Given the description of an element on the screen output the (x, y) to click on. 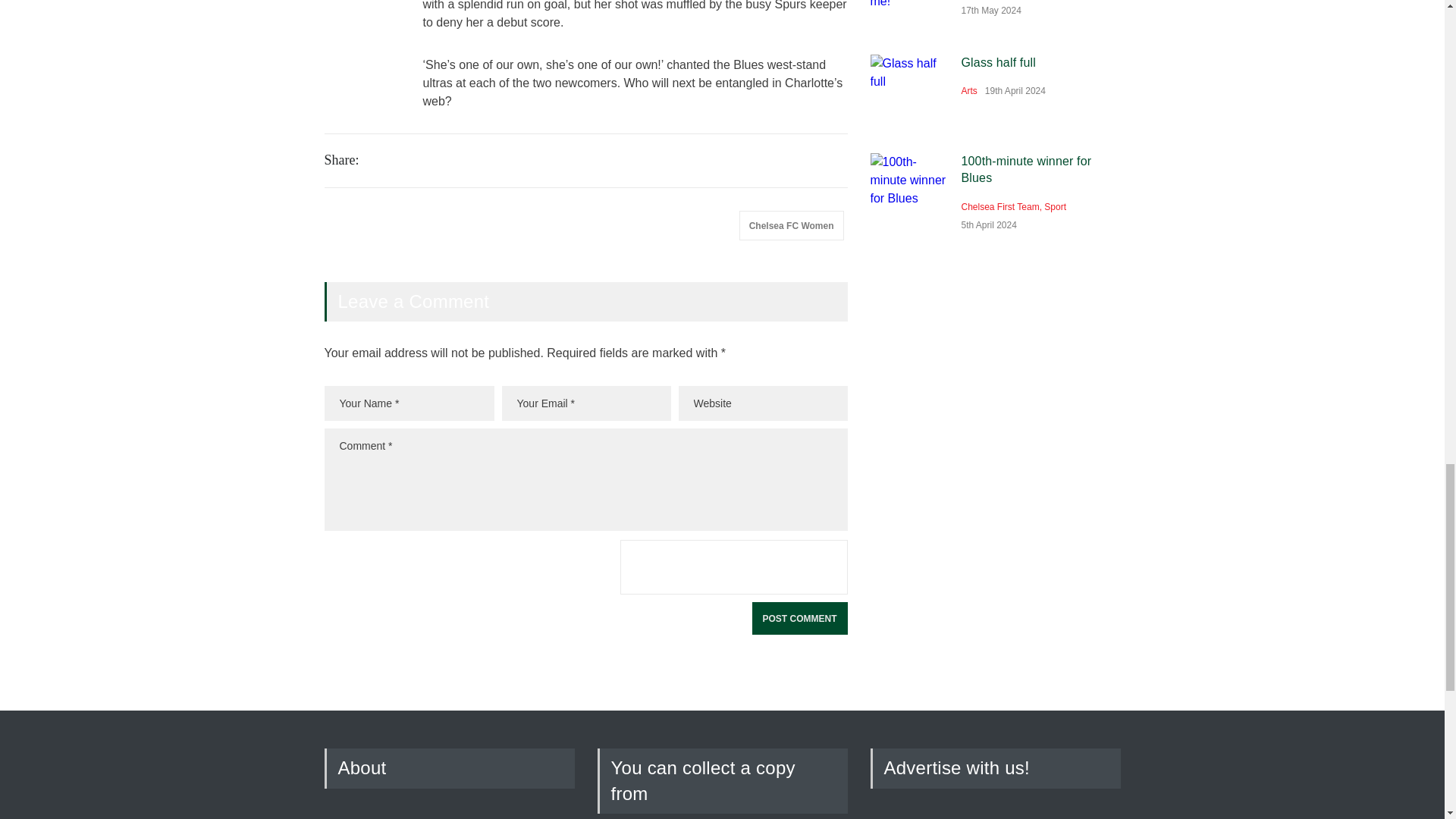
Website (762, 402)
POST COMMENT (799, 617)
